Given the description of an element on the screen output the (x, y) to click on. 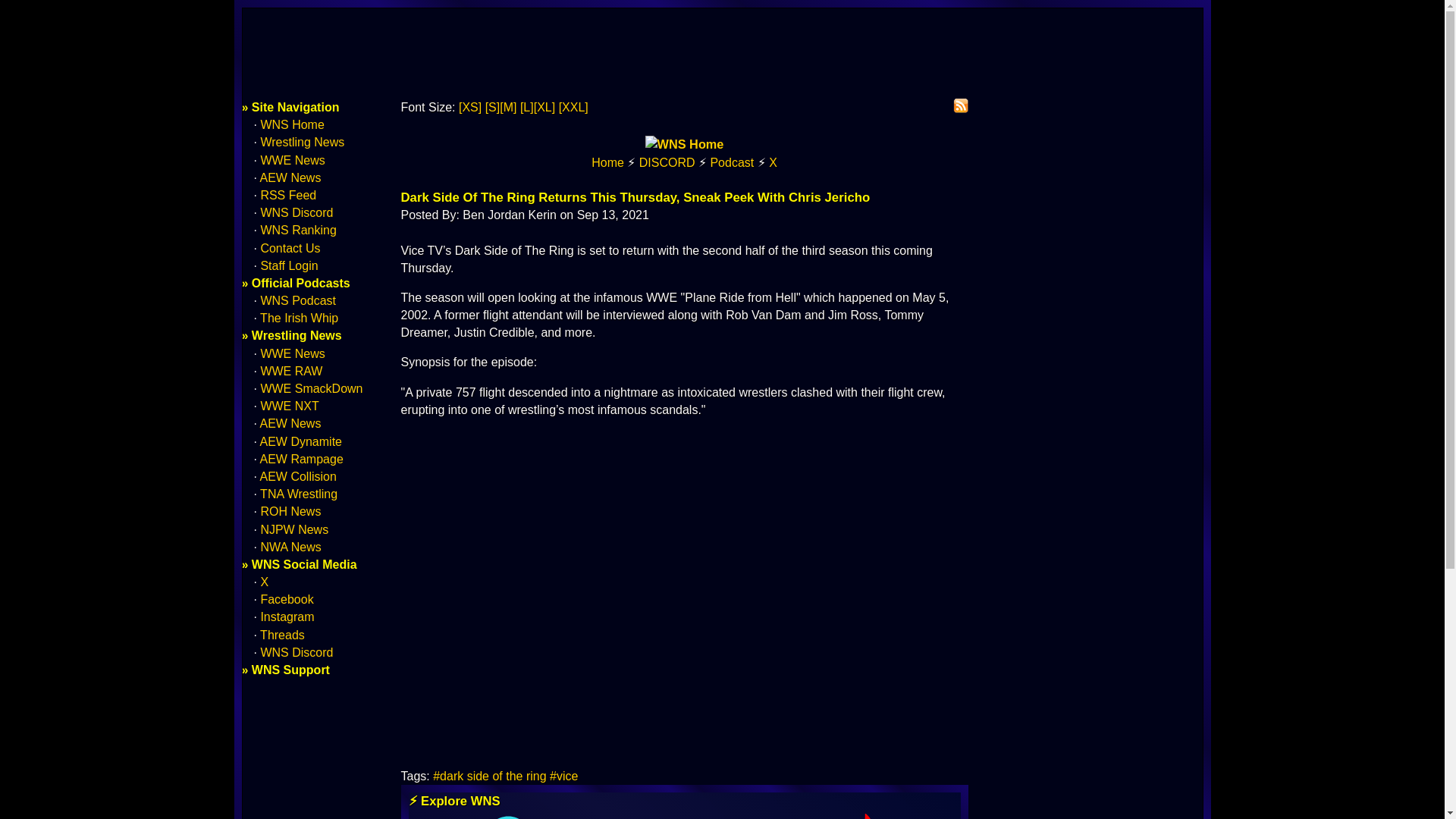
WNS Home (291, 124)
AEW News (290, 422)
WWE NXT (289, 405)
RSS Feed (287, 195)
AEW News (290, 177)
TNA Wrestling (298, 493)
AEW Dynamite (301, 440)
ROH News (290, 511)
WNS Home (607, 162)
NWA News (290, 546)
WWE RAW (290, 370)
WNS Ranking (298, 229)
Contact Us (290, 246)
NJPW News (294, 529)
WNS Discord (296, 212)
